Given the description of an element on the screen output the (x, y) to click on. 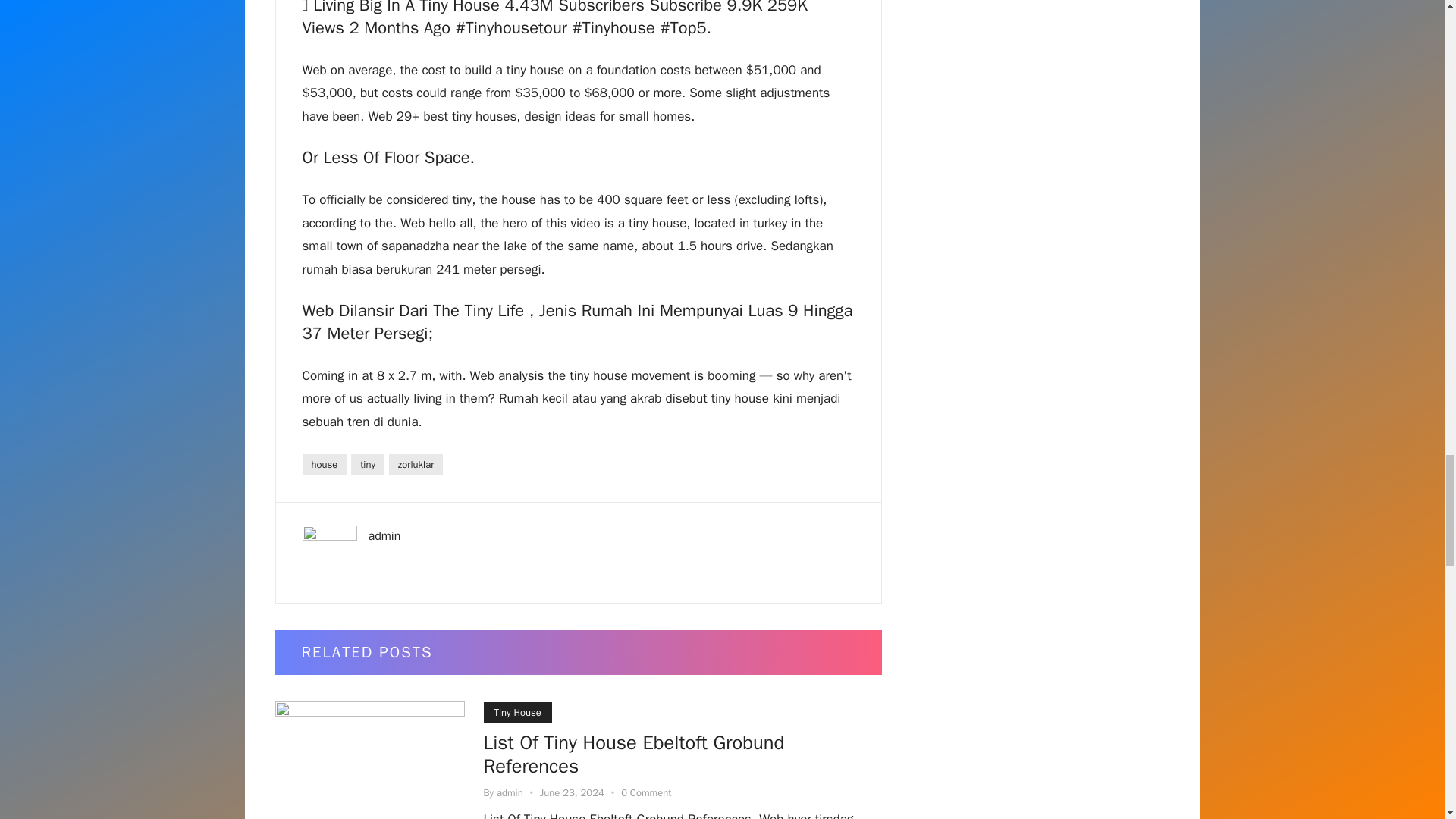
List Of Tiny House Ebeltoft Grobund References (633, 756)
0 Comment (646, 792)
admin (509, 792)
zorluklar (416, 464)
house (323, 464)
Posts by admin (509, 792)
tiny (367, 464)
Tiny House (517, 712)
admin (384, 535)
